Given the description of an element on the screen output the (x, y) to click on. 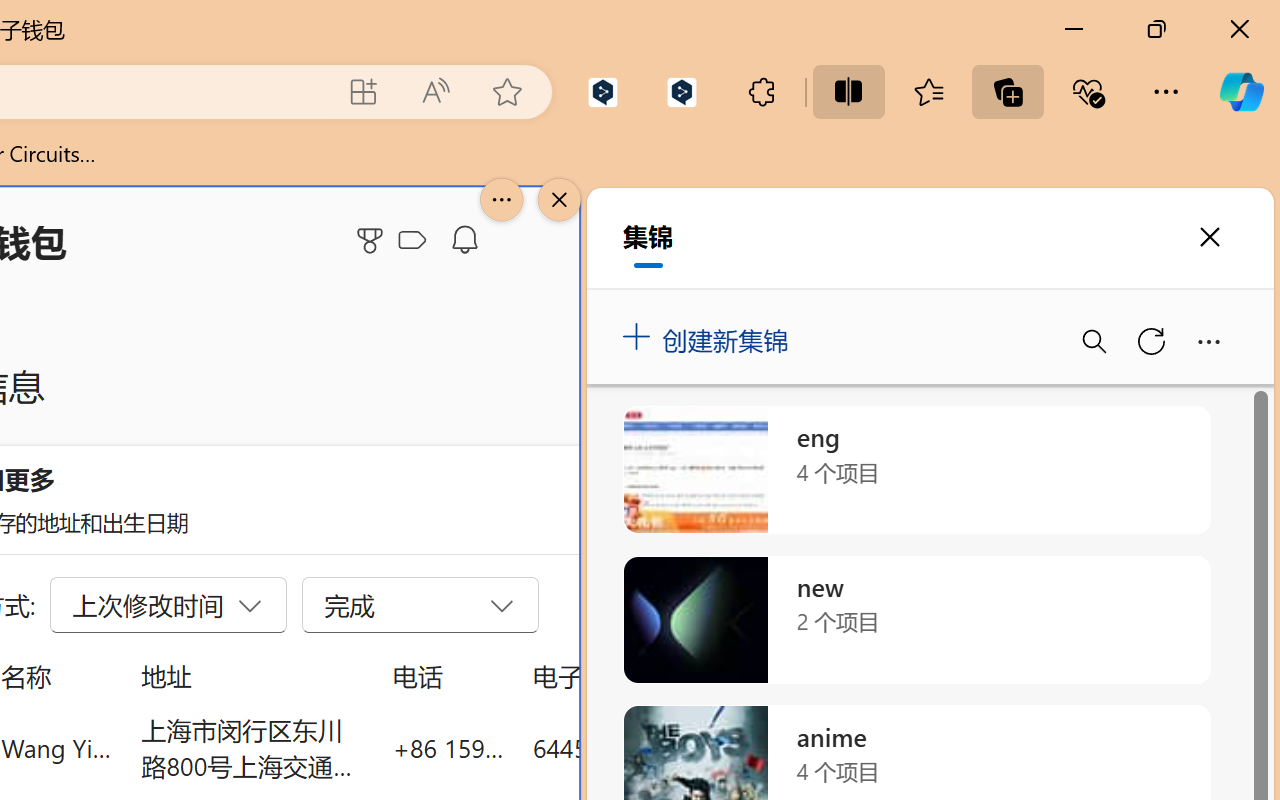
Class: ___1lmltc5 f1agt3bx f12qytpq (411, 241)
Microsoft Rewards (373, 240)
